Given the description of an element on the screen output the (x, y) to click on. 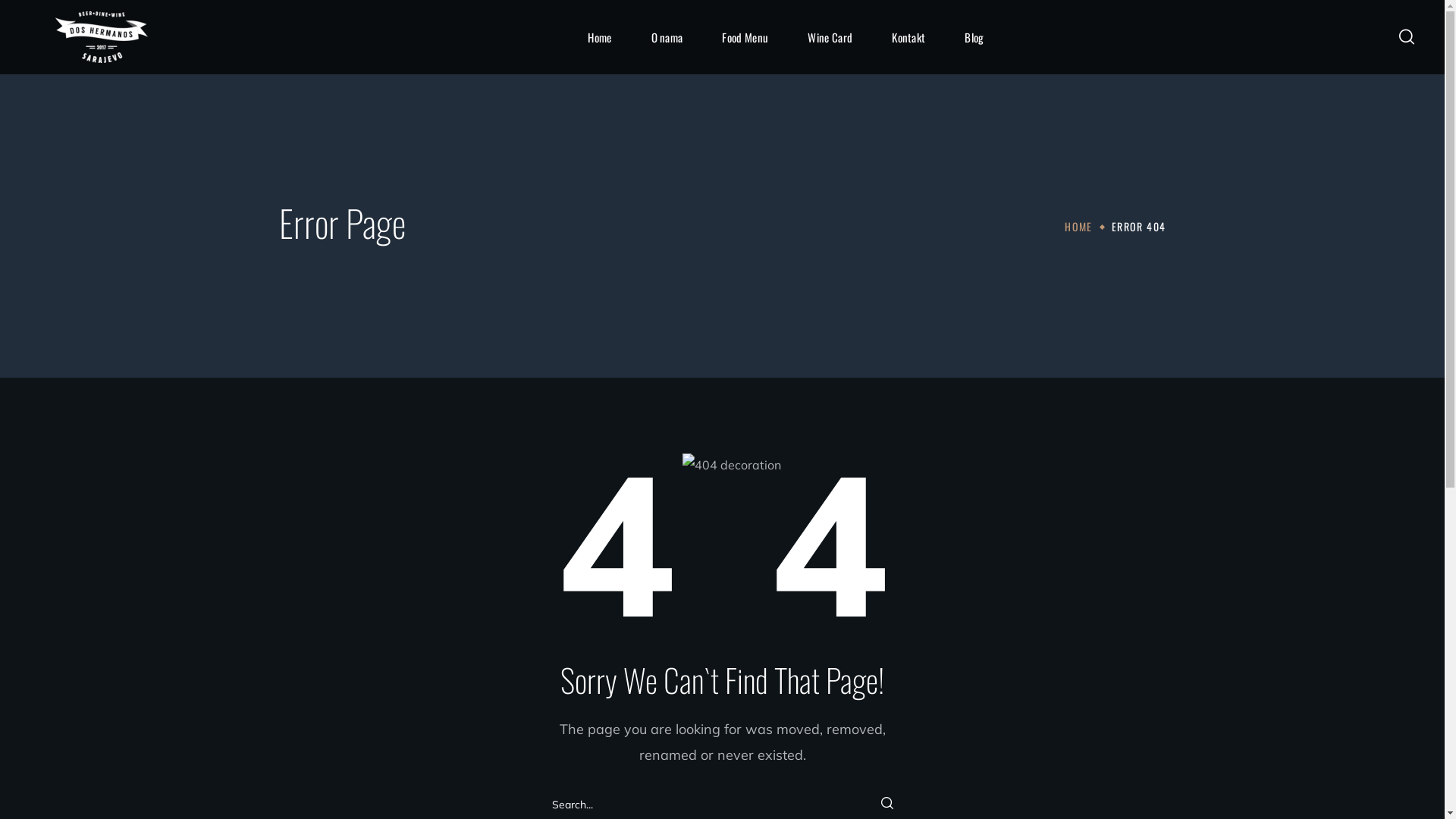
Blog Element type: text (973, 37)
O nama Element type: text (666, 37)
HOME Element type: text (1078, 226)
Food Menu Element type: text (744, 37)
Search Element type: text (1069, 436)
Wine Card Element type: text (829, 37)
Kontakt Element type: text (908, 37)
Home Element type: text (598, 37)
